Given the description of an element on the screen output the (x, y) to click on. 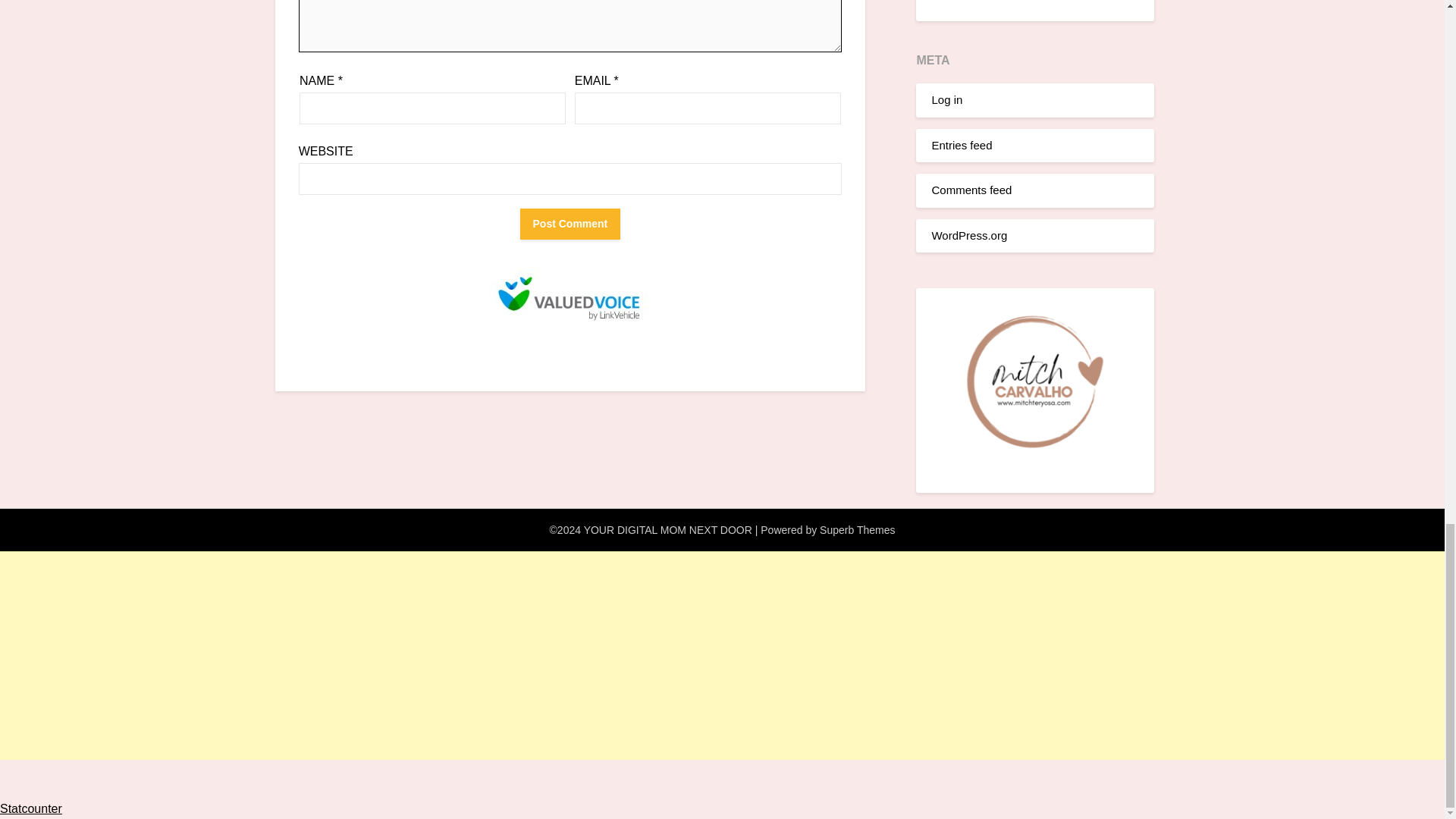
Post Comment (570, 223)
Log in (946, 99)
Post Comment (570, 223)
Entries feed (961, 144)
Comments feed (971, 189)
